Given the description of an element on the screen output the (x, y) to click on. 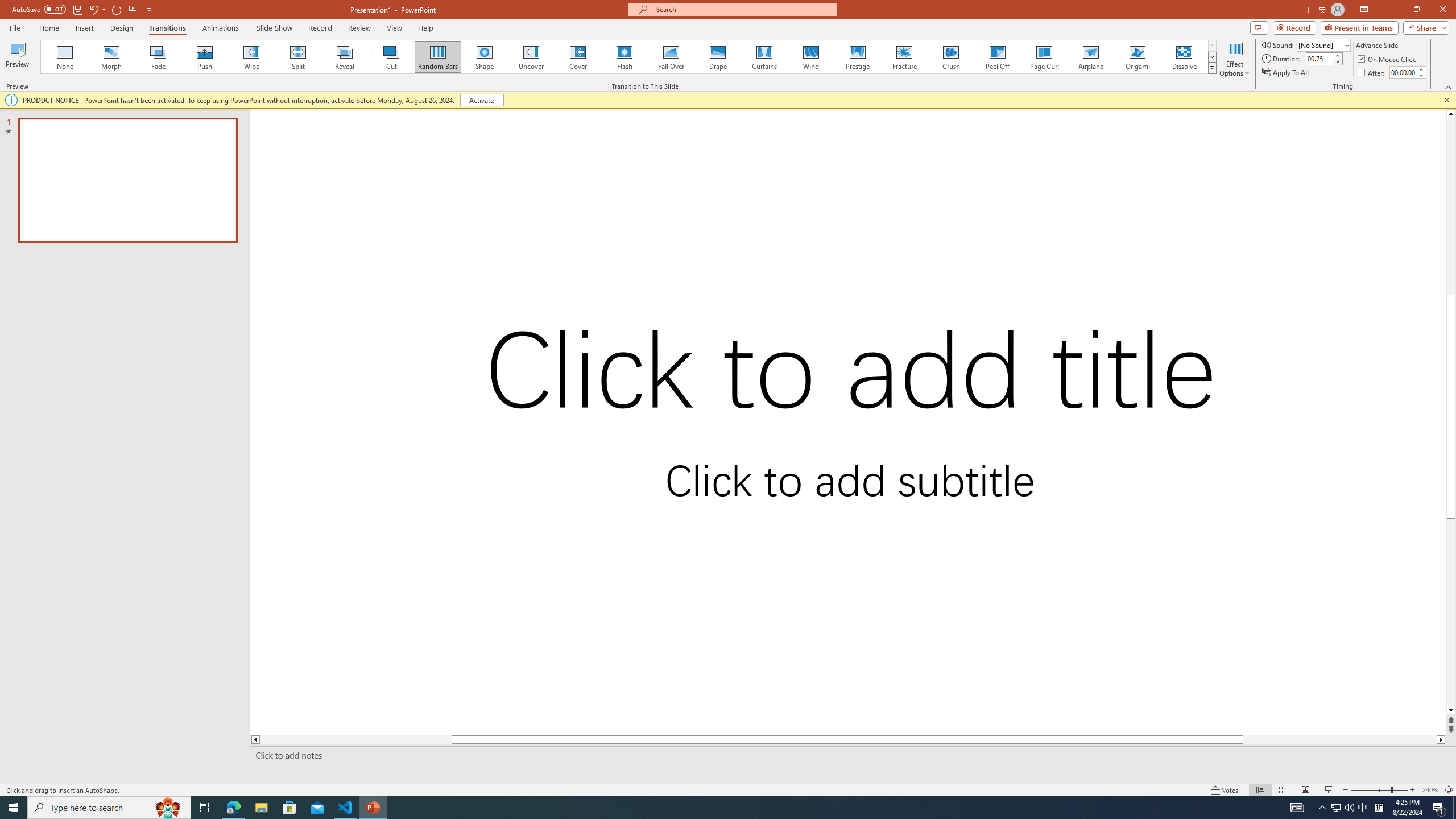
Prestige (857, 56)
On Mouse Click (1387, 58)
Wind (810, 56)
Airplane (1090, 56)
